Given the description of an element on the screen output the (x, y) to click on. 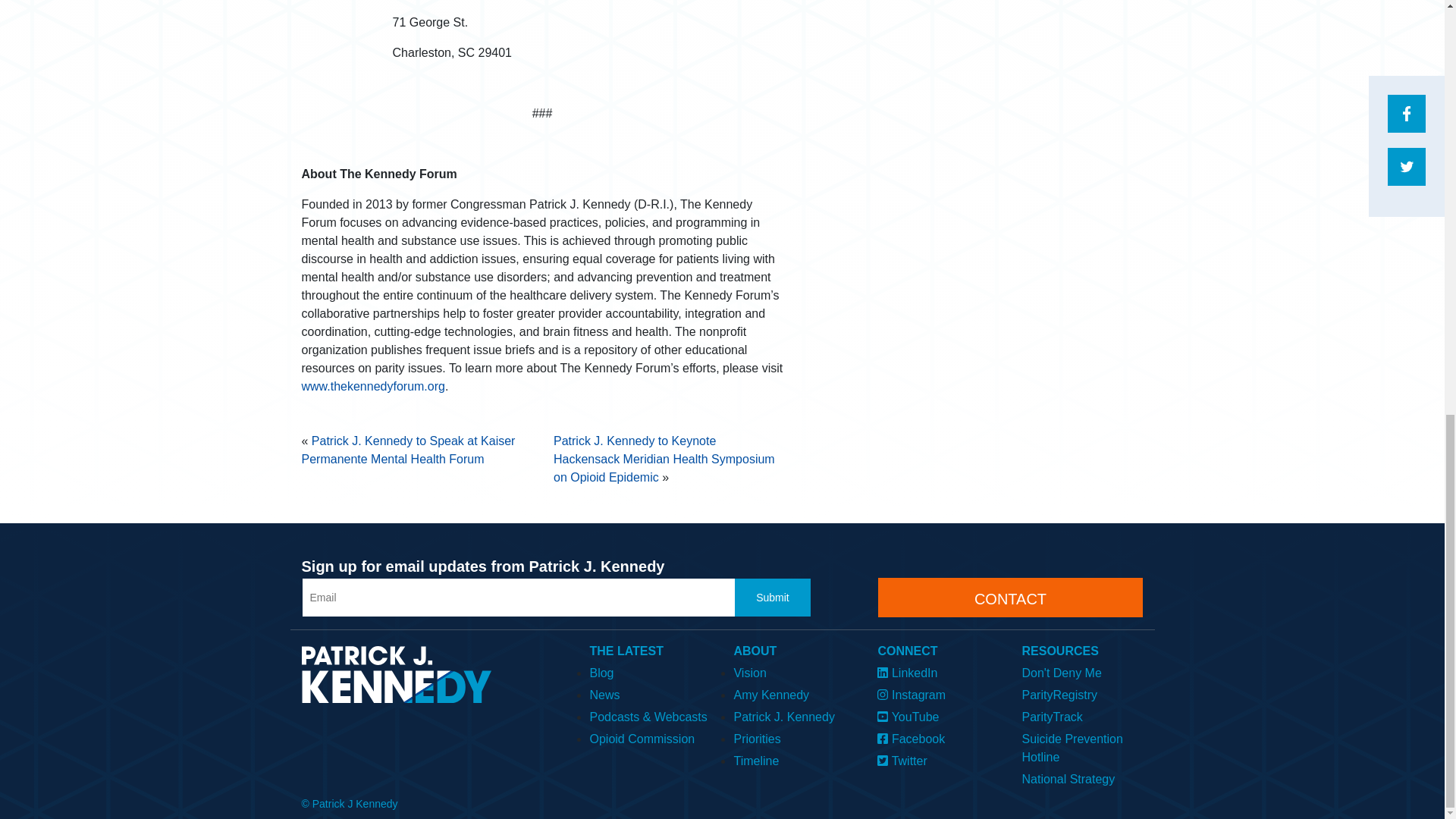
www.thekennedyforum.org (373, 386)
News (649, 693)
Priorities (793, 737)
Submit (772, 597)
LinkedIn (937, 671)
Timeline (793, 759)
Twitter (937, 759)
Blog (649, 671)
Amy Kennedy (793, 693)
Facebook (937, 737)
Patrick J. Kennedy (793, 715)
CONTACT (1009, 597)
Don't Deny Me (1082, 671)
